Given the description of an element on the screen output the (x, y) to click on. 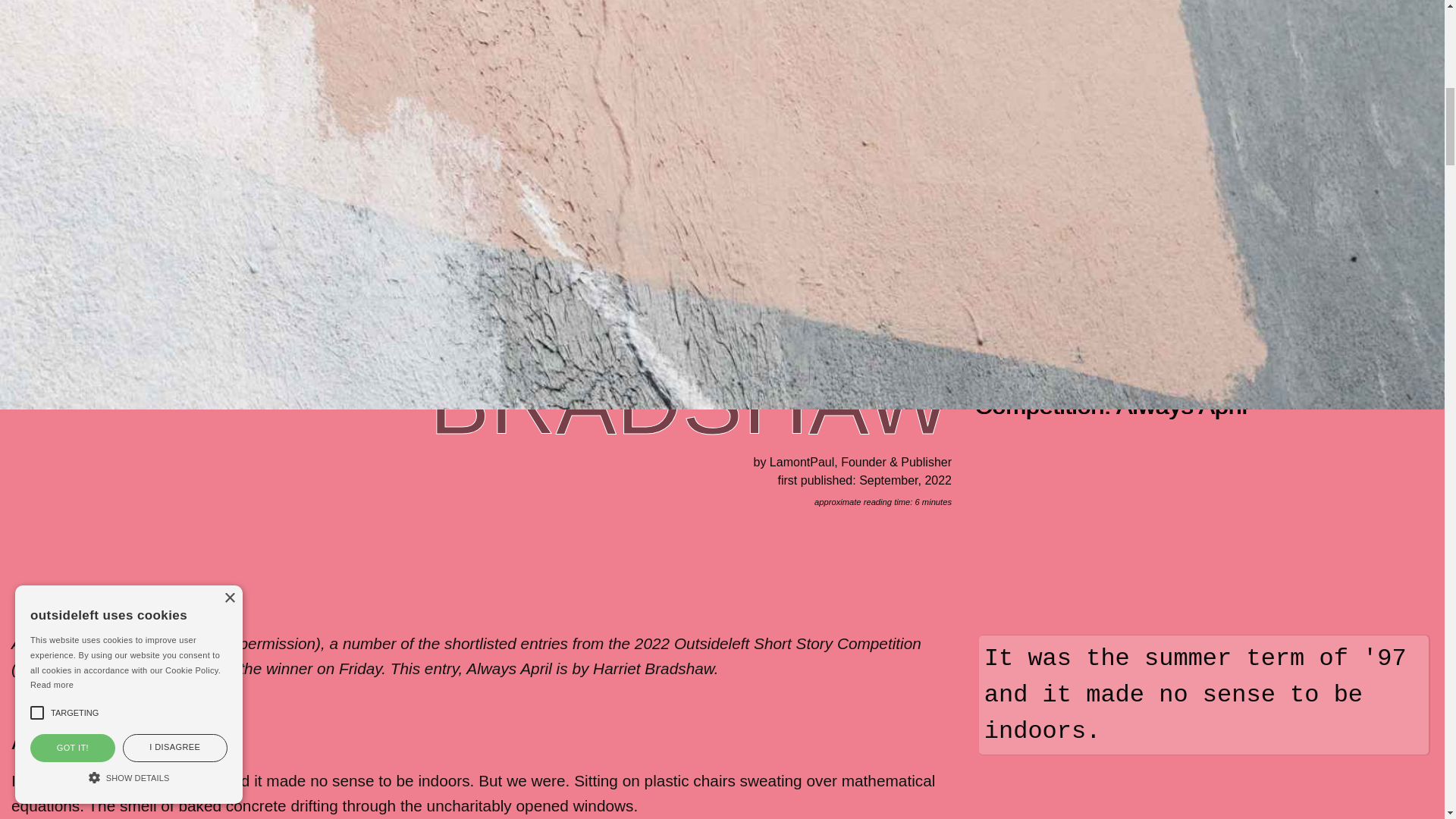
details here (57, 668)
